Given the description of an element on the screen output the (x, y) to click on. 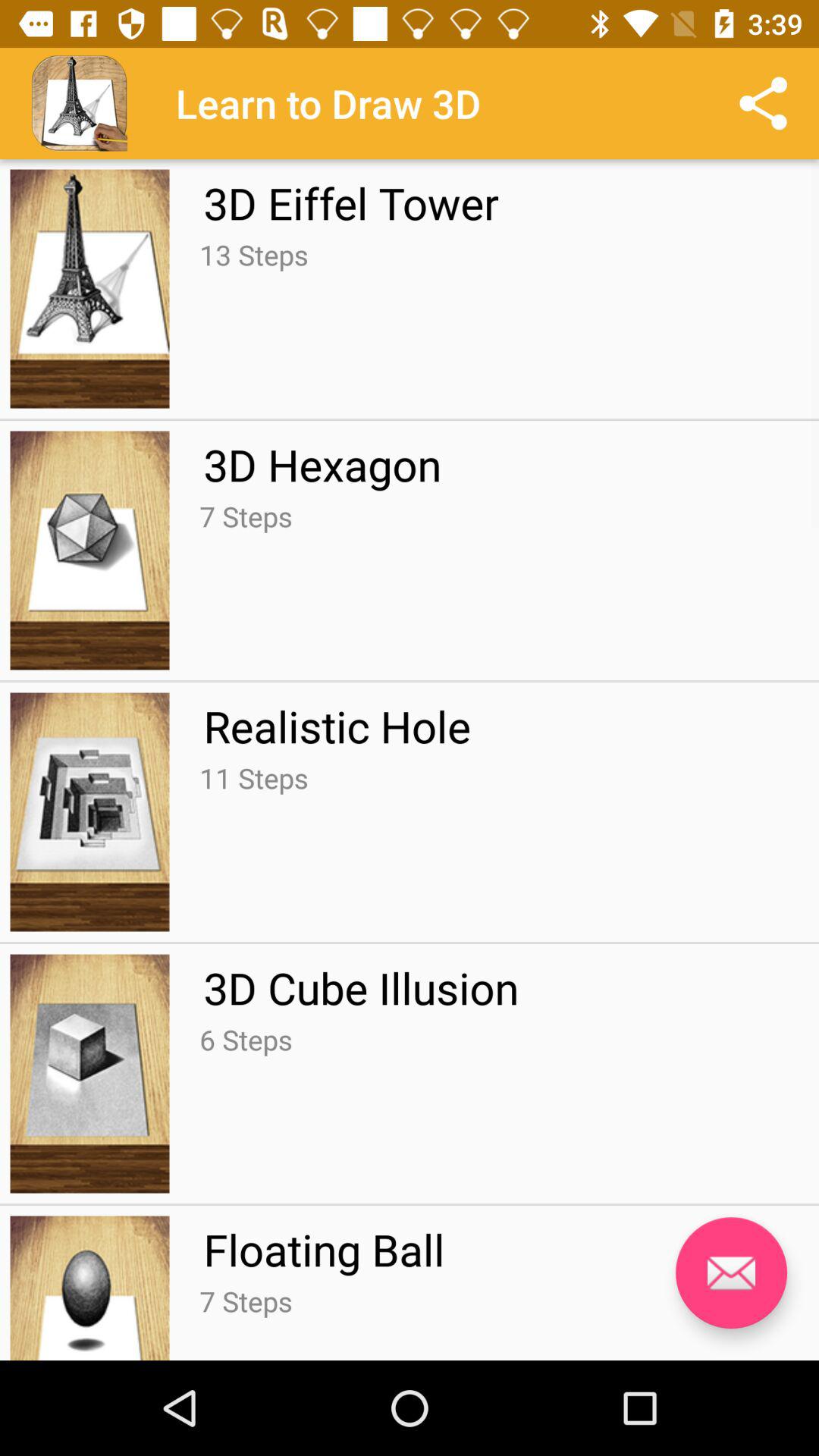
turn on 11 steps item (253, 777)
